Given the description of an element on the screen output the (x, y) to click on. 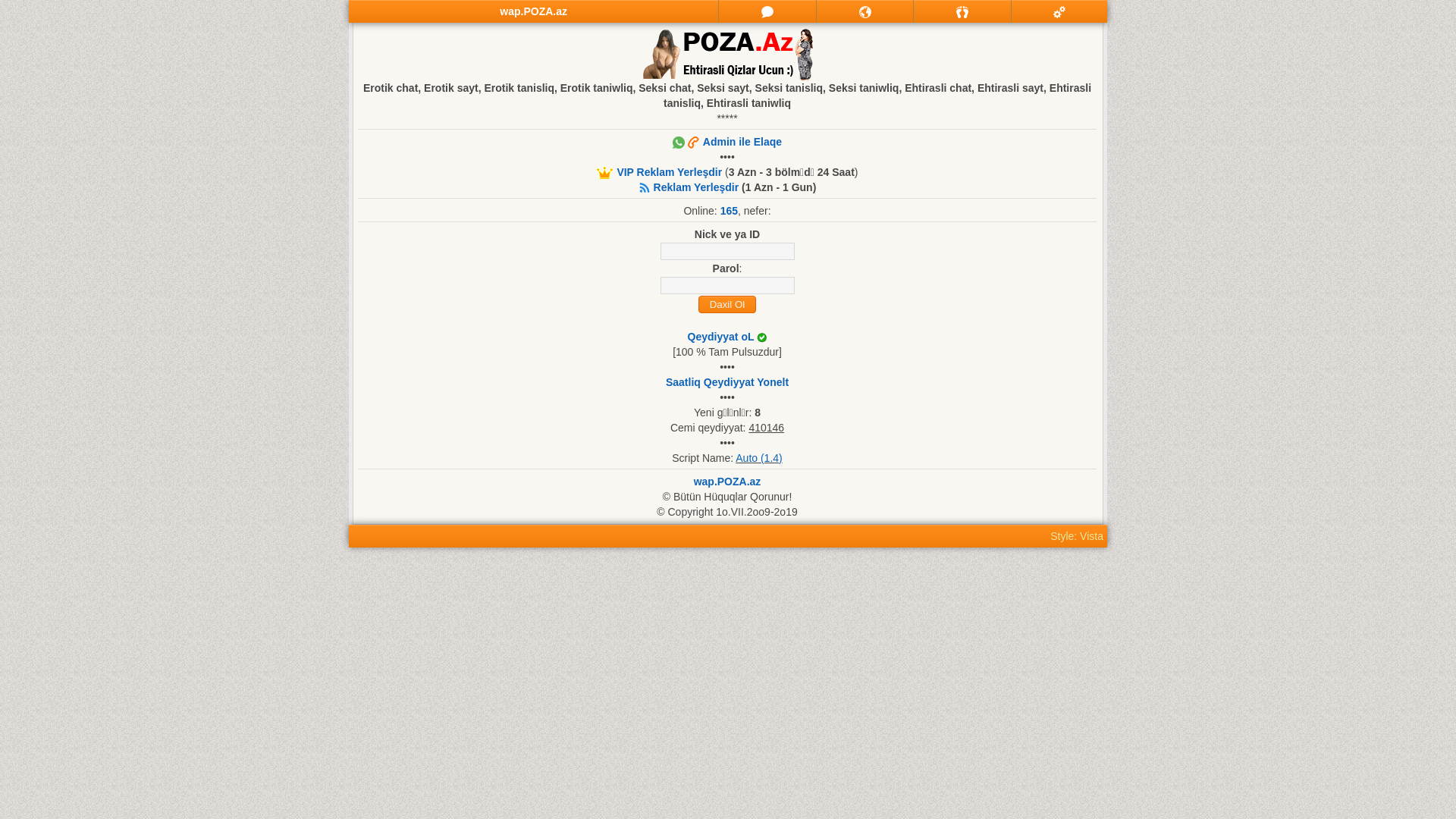
wap.POZA.az Element type: text (727, 481)
Parol Element type: hover (726, 285)
Auto (1.4) Element type: text (758, 457)
Qurgular Element type: hover (1059, 11)
Mesajlar Element type: hover (766, 11)
Bildirisler Element type: hover (864, 11)
Admin ile Elaqe Element type: text (726, 141)
Saatliq Qeydiyyat Yonelt Element type: text (726, 382)
Qeydiyyat oL Element type: text (720, 336)
Qonaqlar Element type: hover (961, 11)
Style: Vista Element type: text (1076, 536)
nick Element type: hover (726, 251)
Daxil Ol Element type: text (726, 304)
165 Element type: text (728, 210)
